Given the description of an element on the screen output the (x, y) to click on. 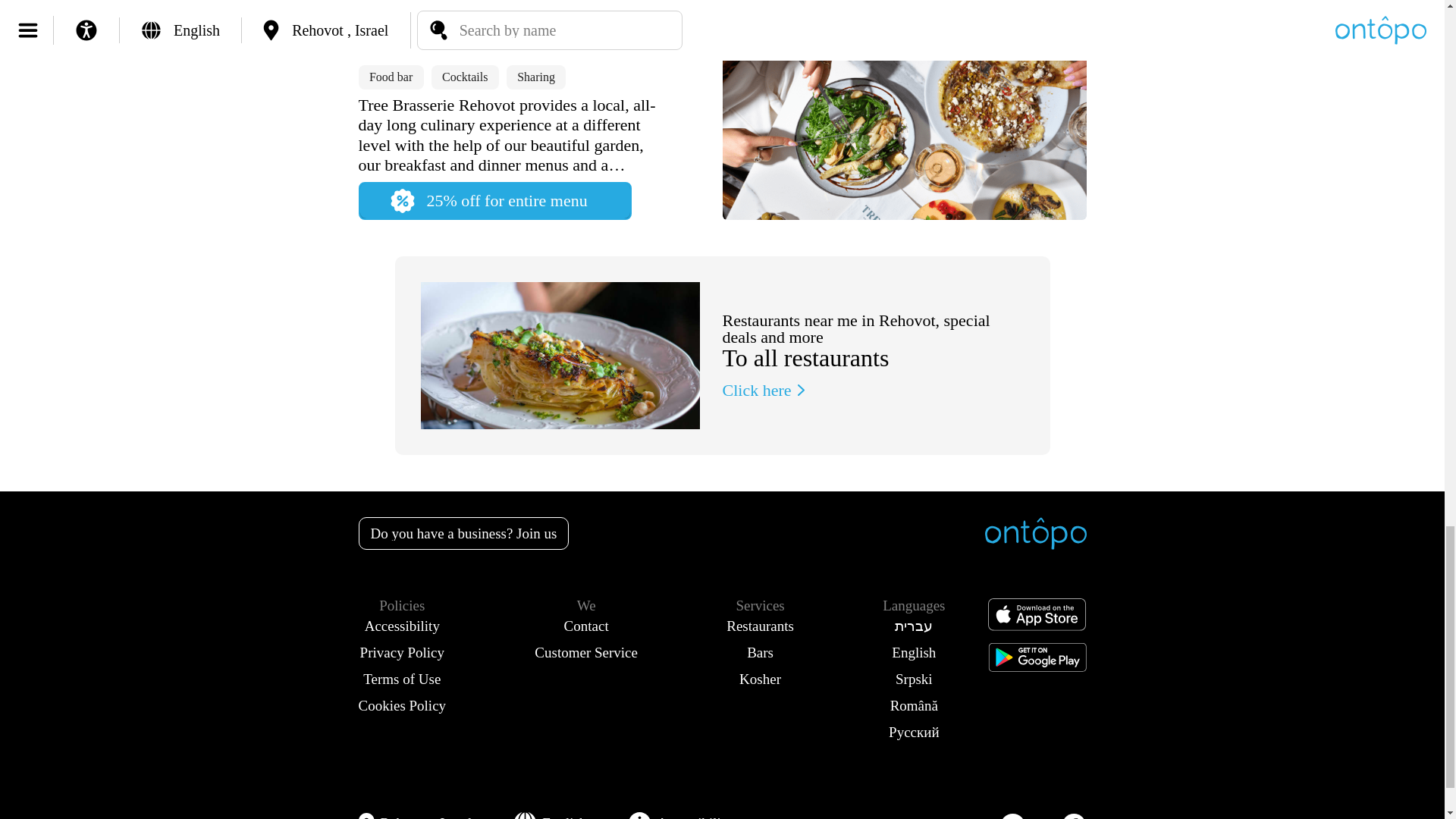
Tree Brasserie (540, 36)
Accessibility (401, 626)
Customer Service (585, 652)
Do you have a business? Join us (463, 532)
Terms of Use (401, 678)
Privacy Policy (401, 652)
Click here (765, 390)
Cookies Policy (401, 705)
Contact (585, 626)
